Given the description of an element on the screen output the (x, y) to click on. 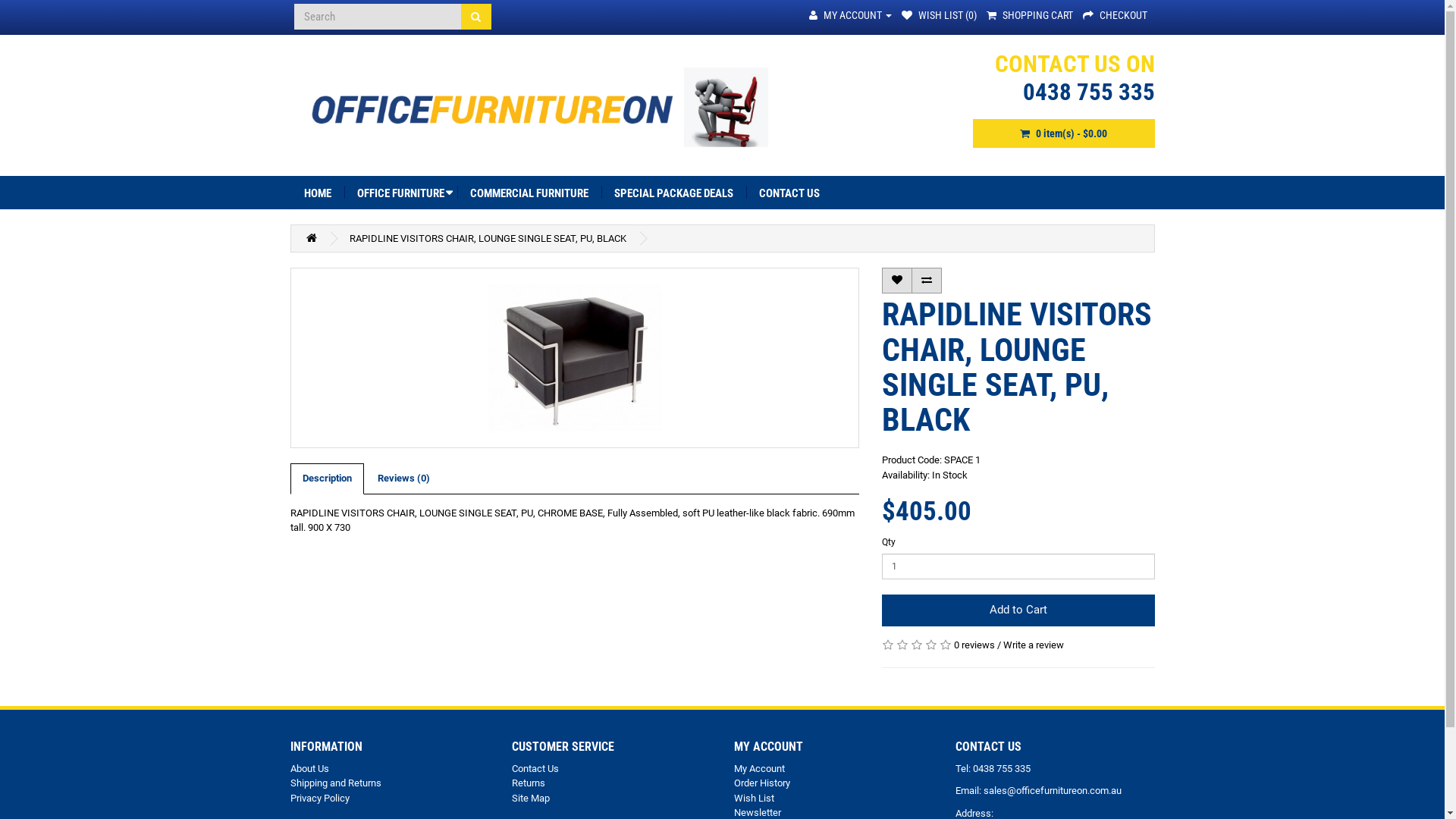
Add to Cart Element type: text (1017, 610)
My Account Element type: text (759, 768)
Privacy Policy Element type: text (318, 797)
SHOPPING CART Element type: text (1028, 15)
Newsletter Element type: text (757, 812)
Shipping and Returns Element type: text (334, 782)
0 reviews Element type: text (973, 644)
RAPIDLINE VISITORS CHAIR, LOUNGE SINGLE SEAT, PU, BLACK Element type: text (486, 238)
Reviews (0) Element type: text (403, 478)
MY ACCOUNT Element type: text (849, 15)
RAPIDLINE VISITORS CHAIR, LOUNGE SINGLE SEAT, PU, BLACK Element type: hover (573, 357)
COMMERCIAL FURNITURE Element type: text (528, 192)
Order History Element type: text (762, 782)
Returns Element type: text (528, 782)
WISH LIST (0) Element type: text (937, 15)
RAPIDLINE VISITORS CHAIR, LOUNGE SINGLE SEAT, PU, BLACK Element type: hover (574, 357)
CHECKOUT Element type: text (1114, 15)
Contact Us Element type: text (534, 768)
Wish List Element type: text (754, 797)
Site Map Element type: text (530, 797)
SPECIAL PACKAGE DEALS Element type: text (672, 192)
OFFICE FURNITURE Element type: text (400, 192)
Description Element type: text (326, 478)
HOME Element type: text (317, 192)
0 item(s) - $0.00 Element type: text (1063, 133)
OfficeFurnitureOn Element type: hover (536, 106)
About Us Element type: text (308, 768)
Write a review Element type: text (1032, 644)
0438 755 335 Element type: text (1088, 92)
CONTACT US Element type: text (789, 192)
